Given the description of an element on the screen output the (x, y) to click on. 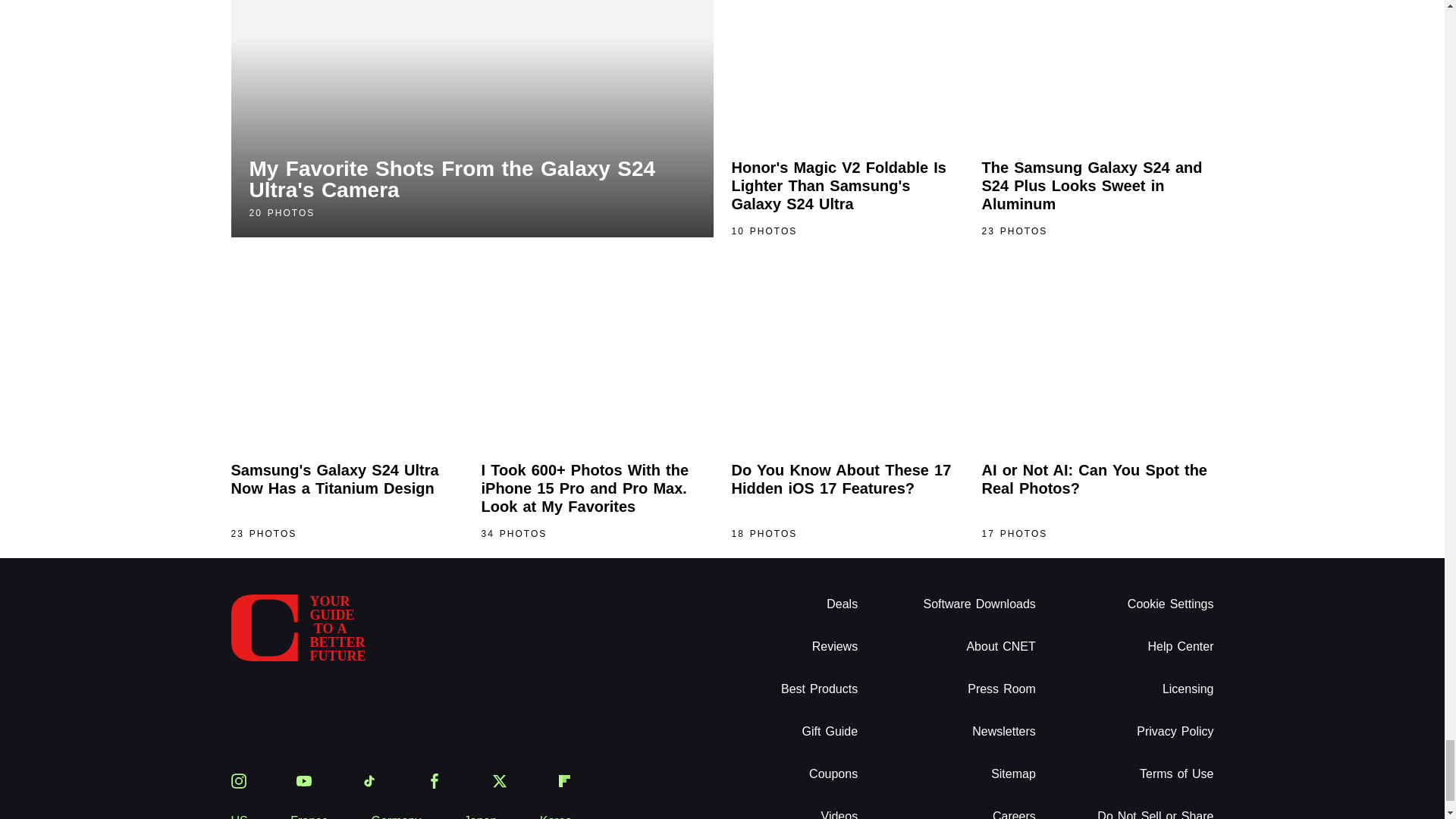
My Favorite Shots From the Galaxy S24 Ultra's Camera (471, 118)
